Given the description of an element on the screen output the (x, y) to click on. 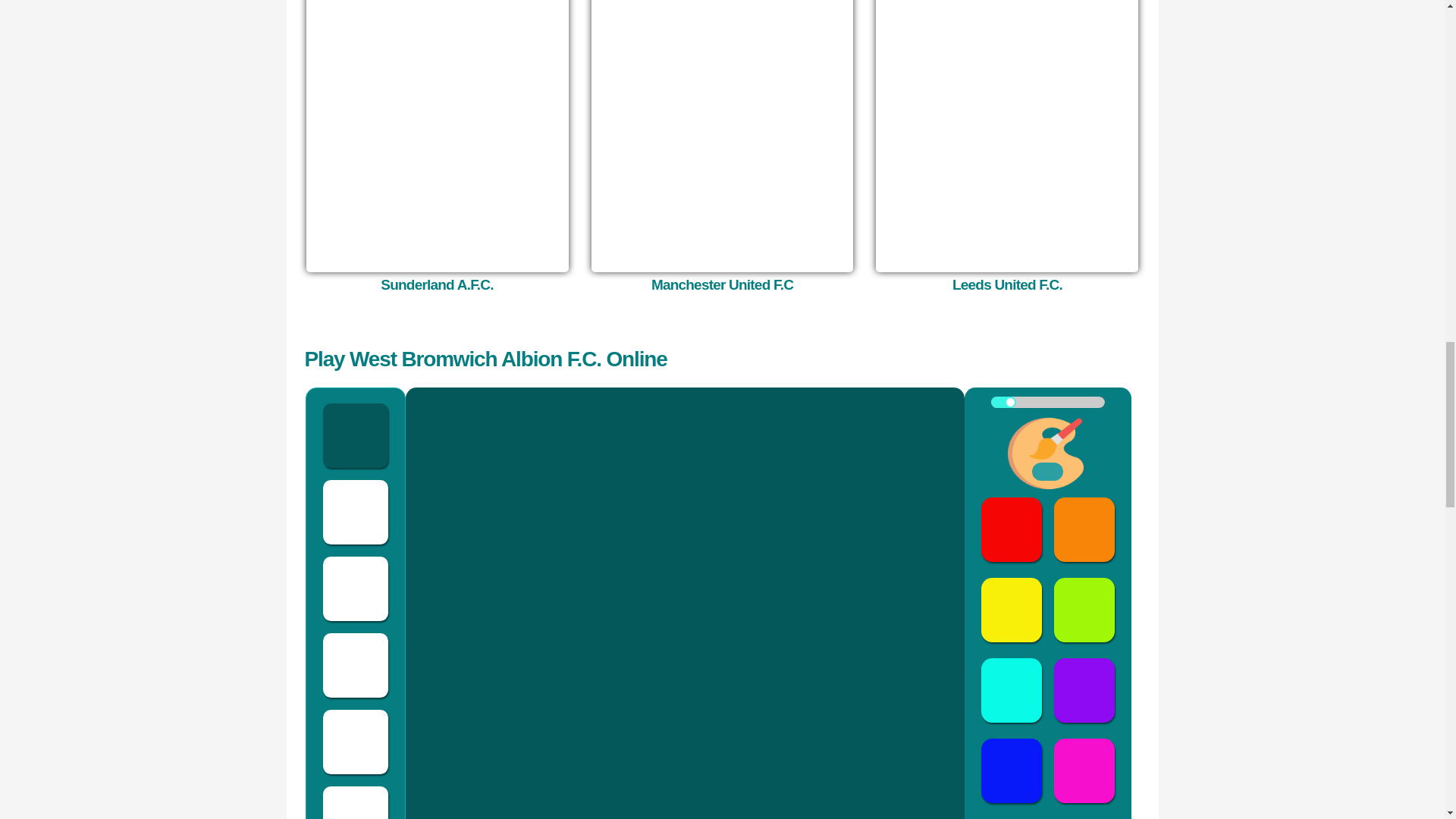
Sunderland A.F.C. Coloring Page (437, 135)
5 (1046, 401)
Sunderland A.F.C. Coloring Page (436, 284)
